Given the description of an element on the screen output the (x, y) to click on. 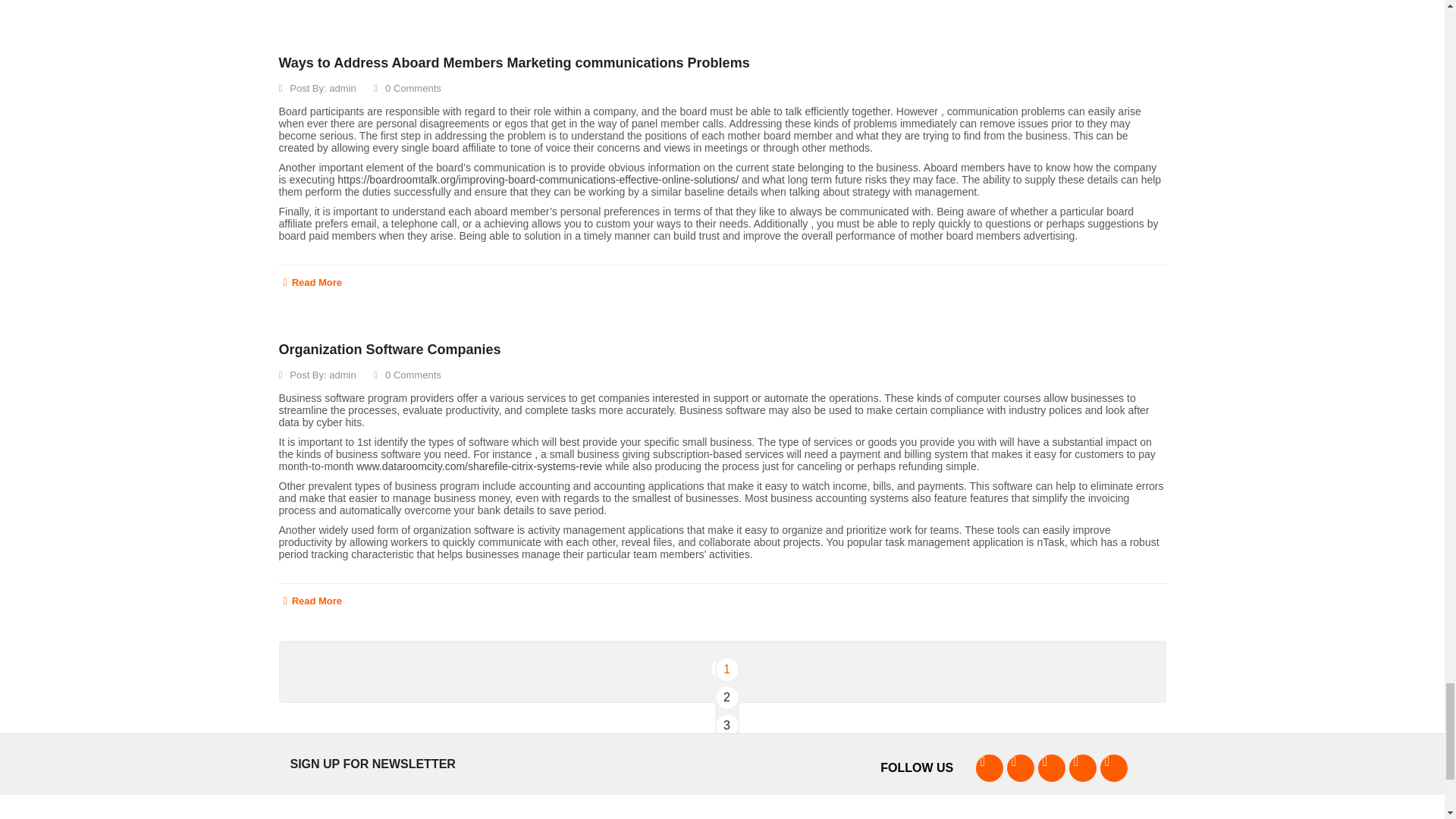
Posts by admin (342, 88)
Posts by admin (342, 374)
